Given the description of an element on the screen output the (x, y) to click on. 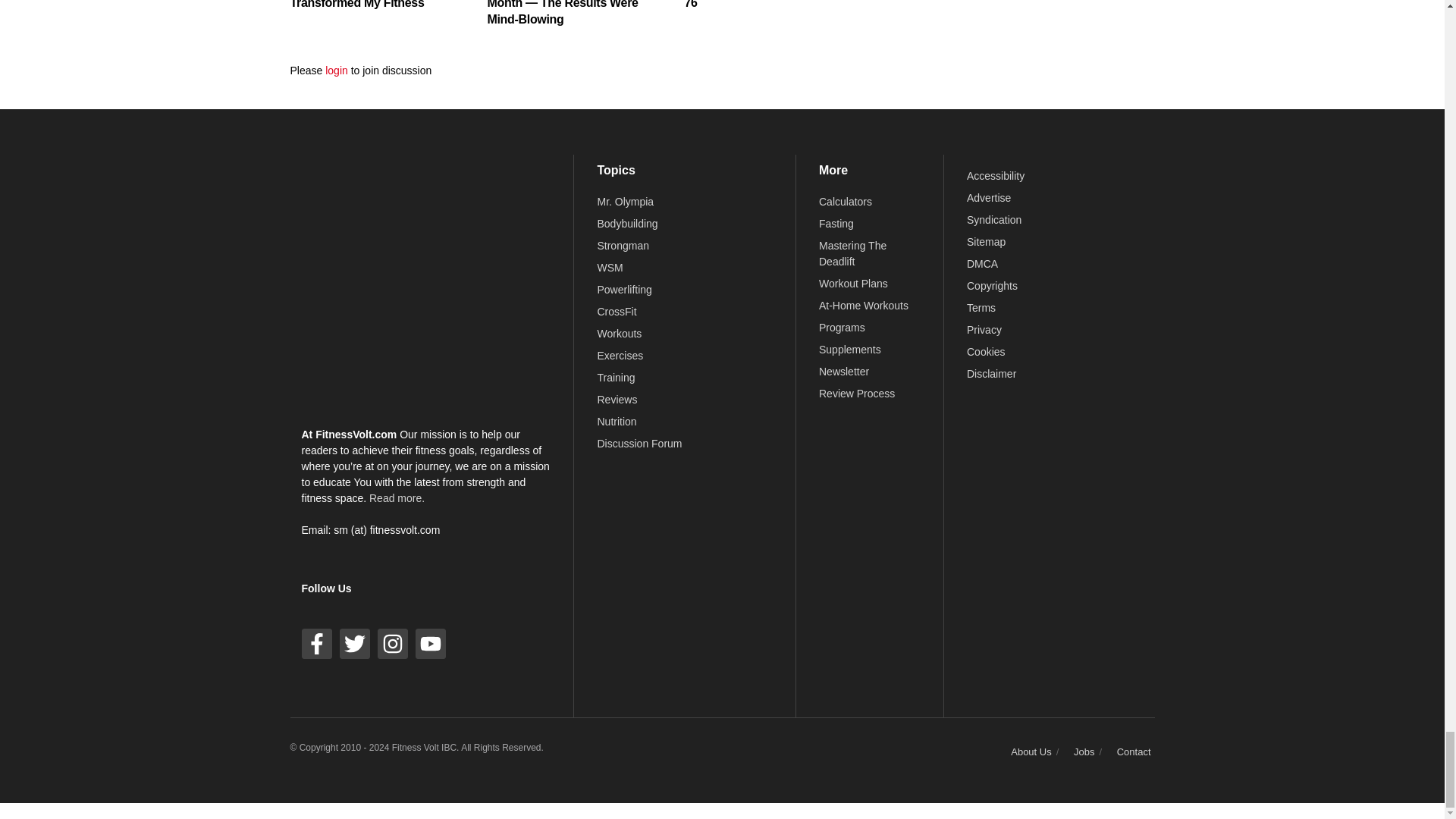
2019 Mr. Olympia News (624, 201)
Accessibility Conformance Status (995, 175)
Read more about Fitness Volt (397, 498)
